Given the description of an element on the screen output the (x, y) to click on. 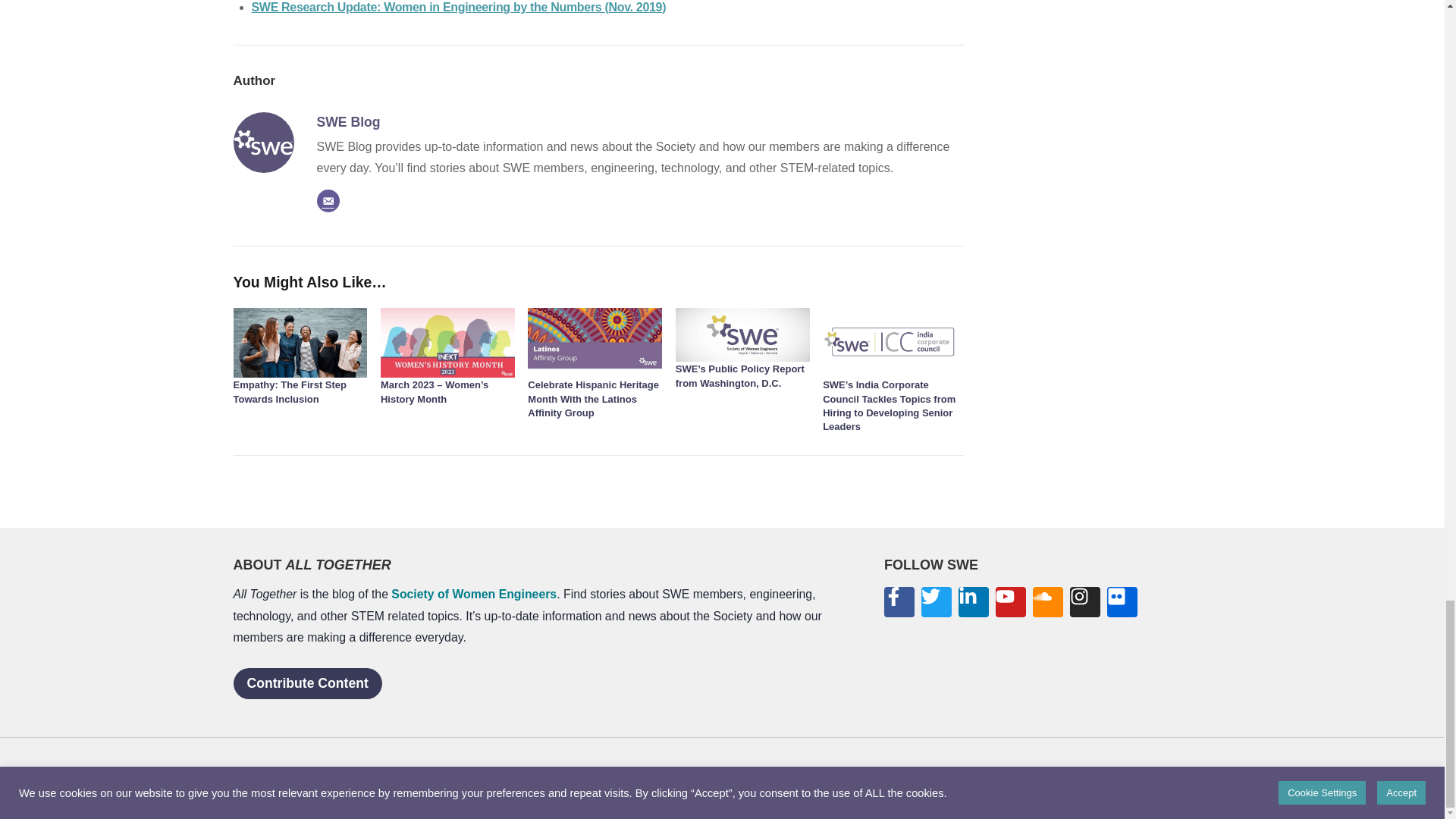
SWE Blog (348, 121)
Demand Equal Pay for Black Women black women (263, 142)
